Given the description of an element on the screen output the (x, y) to click on. 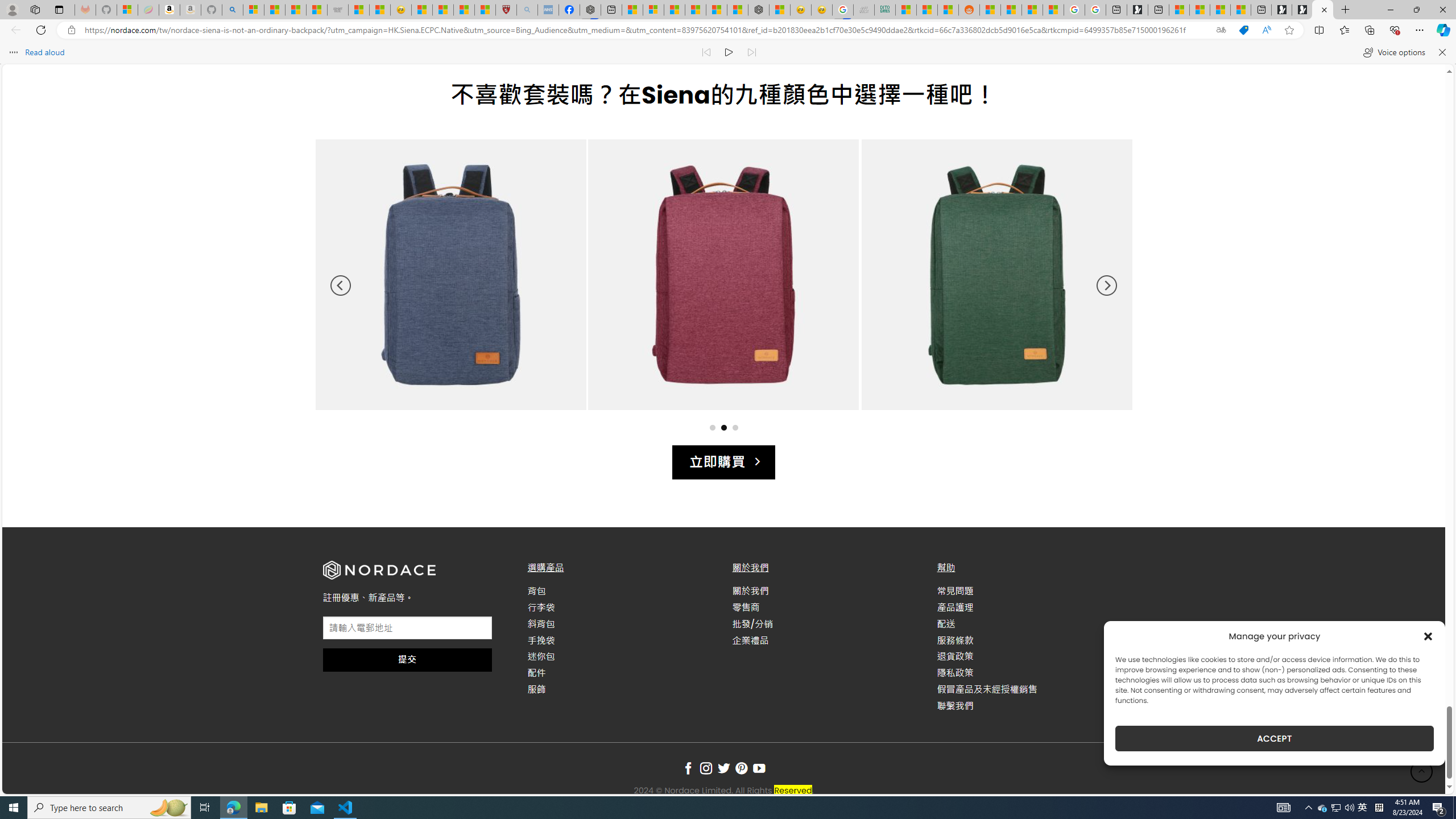
Class: cmplz-close (1428, 636)
Close read aloud (1441, 52)
